Given the description of an element on the screen output the (x, y) to click on. 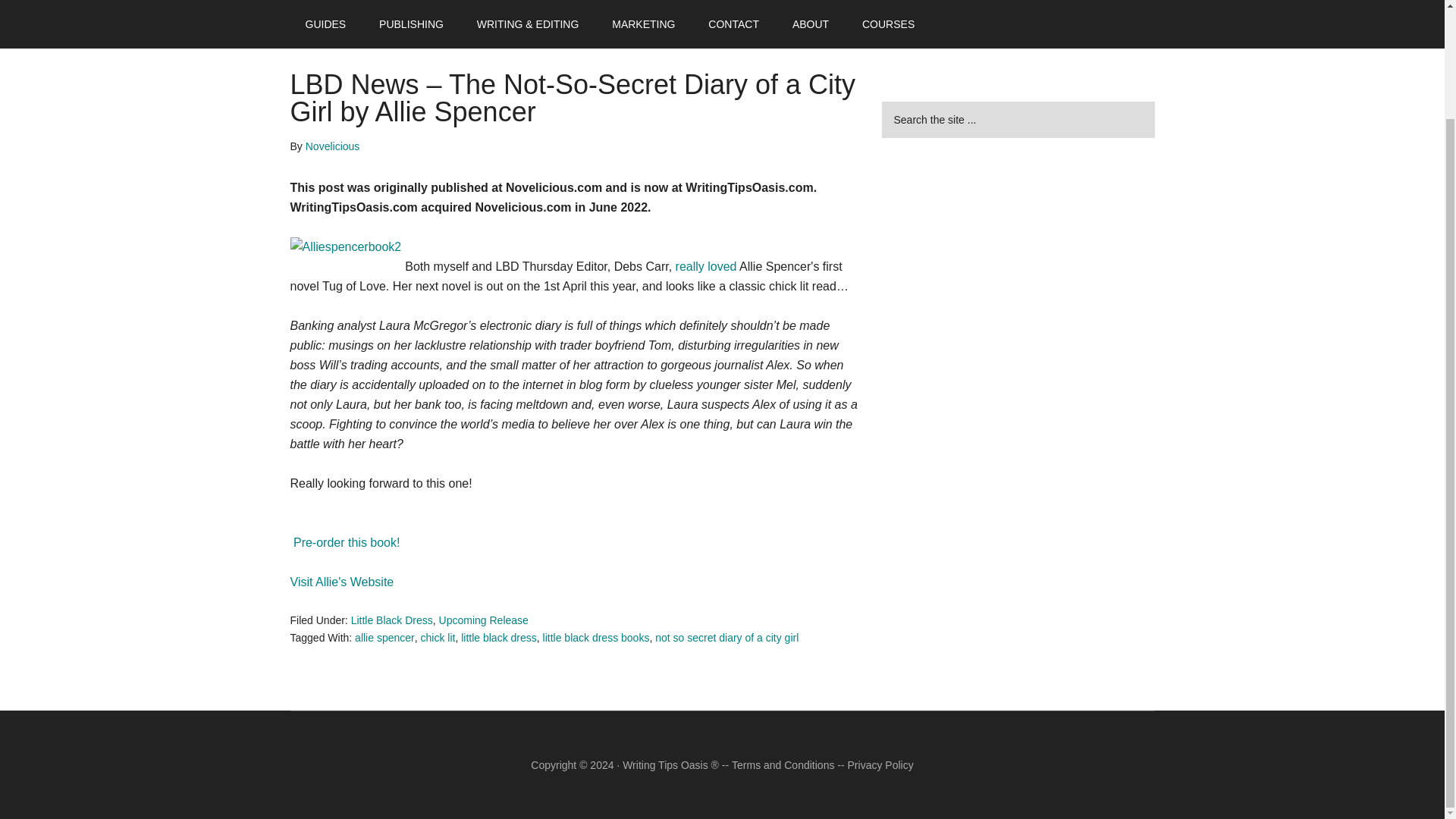
little black dress books (596, 637)
Novelicious (332, 146)
Little Black Dress (391, 620)
little black dress (499, 637)
Upcoming Release (483, 620)
chick lit (437, 637)
really loved (705, 266)
Visit Allie's Website (341, 581)
not so secret diary of a city girl (726, 637)
allie spencer (384, 637)
Terms and Conditions (783, 765)
Alliespencerbook2 (345, 247)
